Given the description of an element on the screen output the (x, y) to click on. 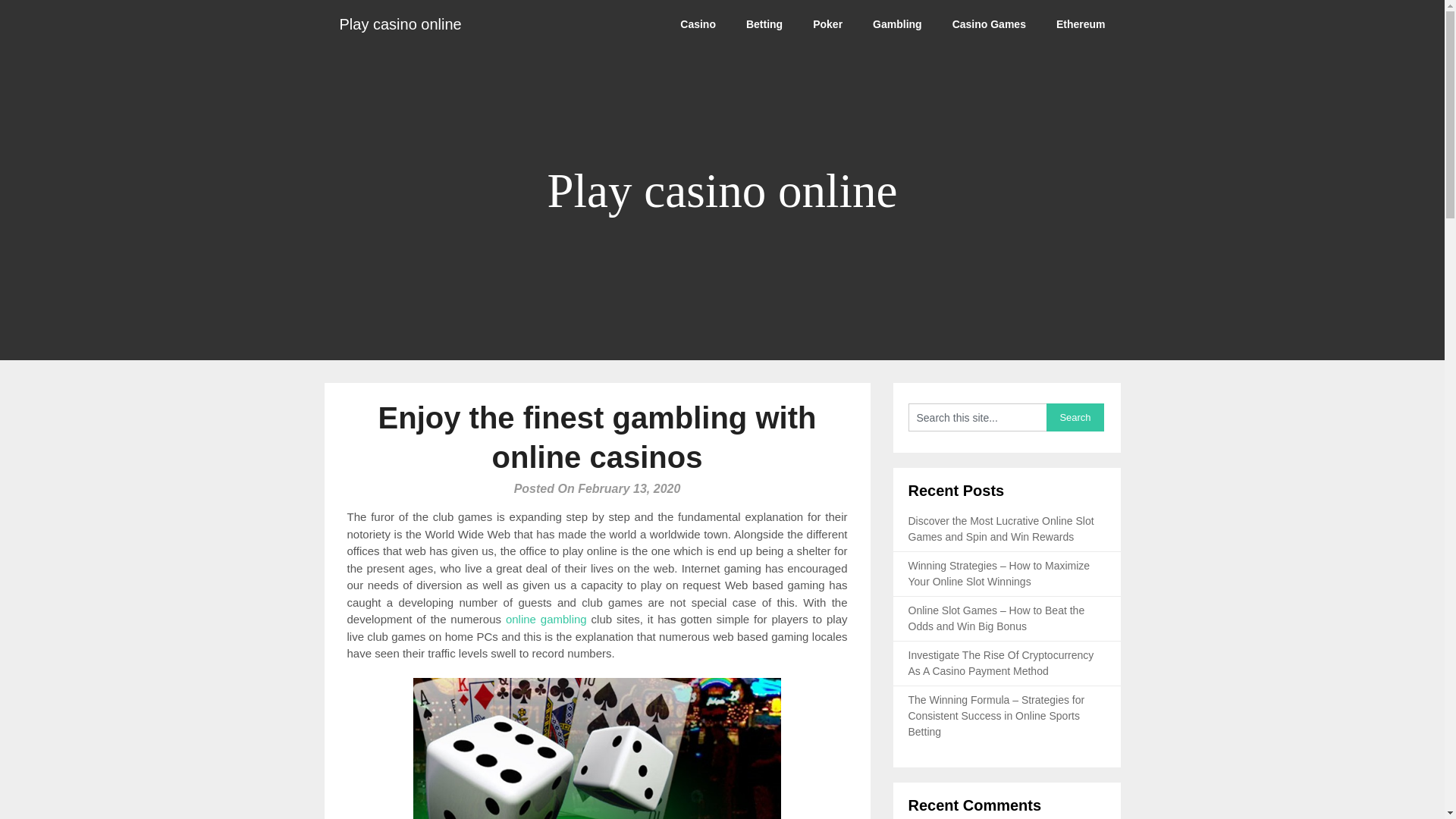
Ethereum (1081, 24)
Search (1075, 417)
Gambling (897, 24)
Search (1075, 417)
Casino (697, 24)
Search this site... (977, 417)
Betting (763, 24)
Play casino online (400, 24)
